Given the description of an element on the screen output the (x, y) to click on. 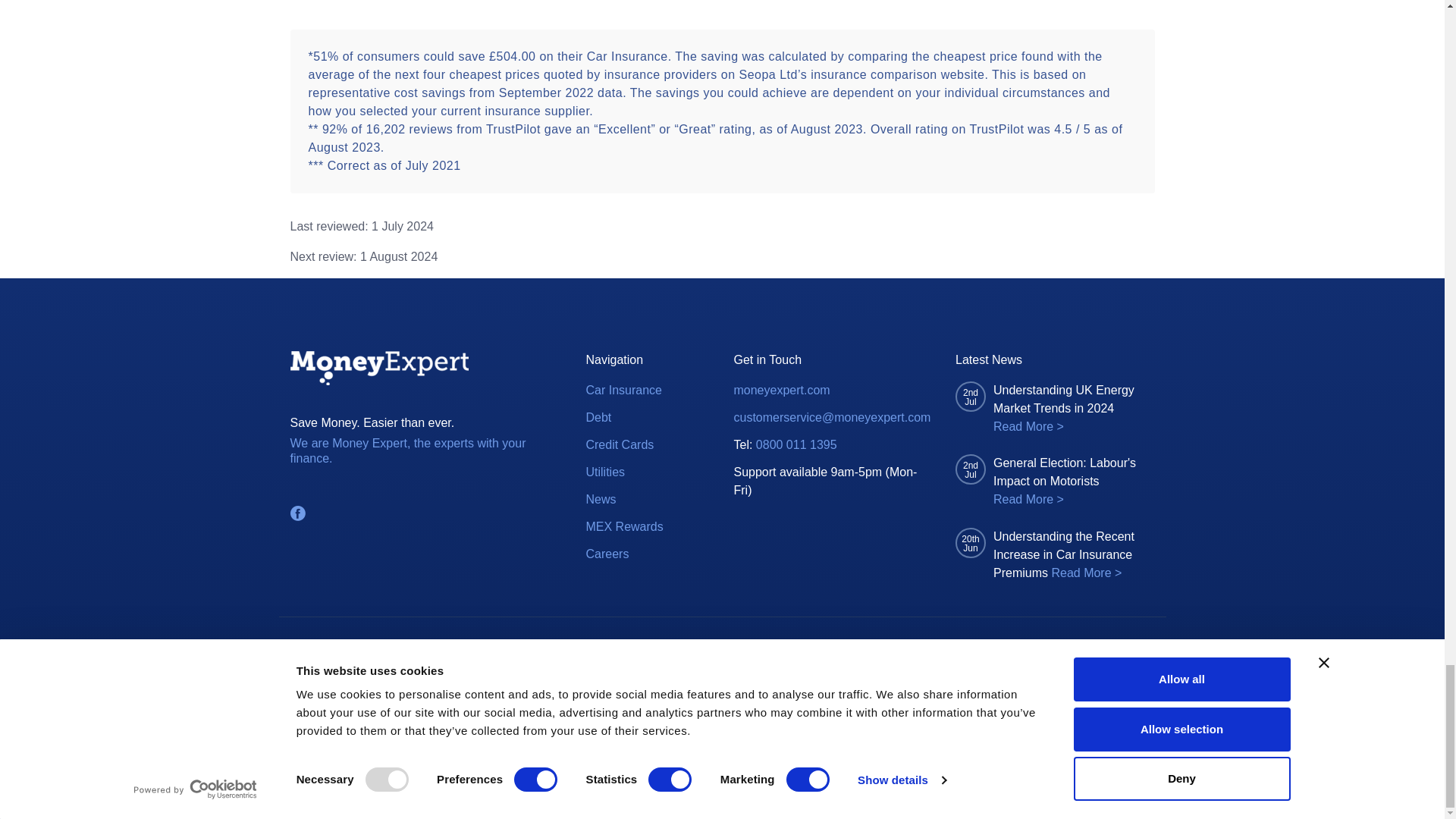
Rewards (606, 554)
News (600, 499)
Preferences (595, 645)
Utilities (604, 472)
Facebook Profile (296, 513)
Complaints (459, 645)
Rewards (623, 526)
Cookies (699, 645)
Credit Cards (619, 444)
Car Insurance (623, 390)
Debt Management (598, 417)
Privacy Policy (789, 645)
